Given the description of an element on the screen output the (x, y) to click on. 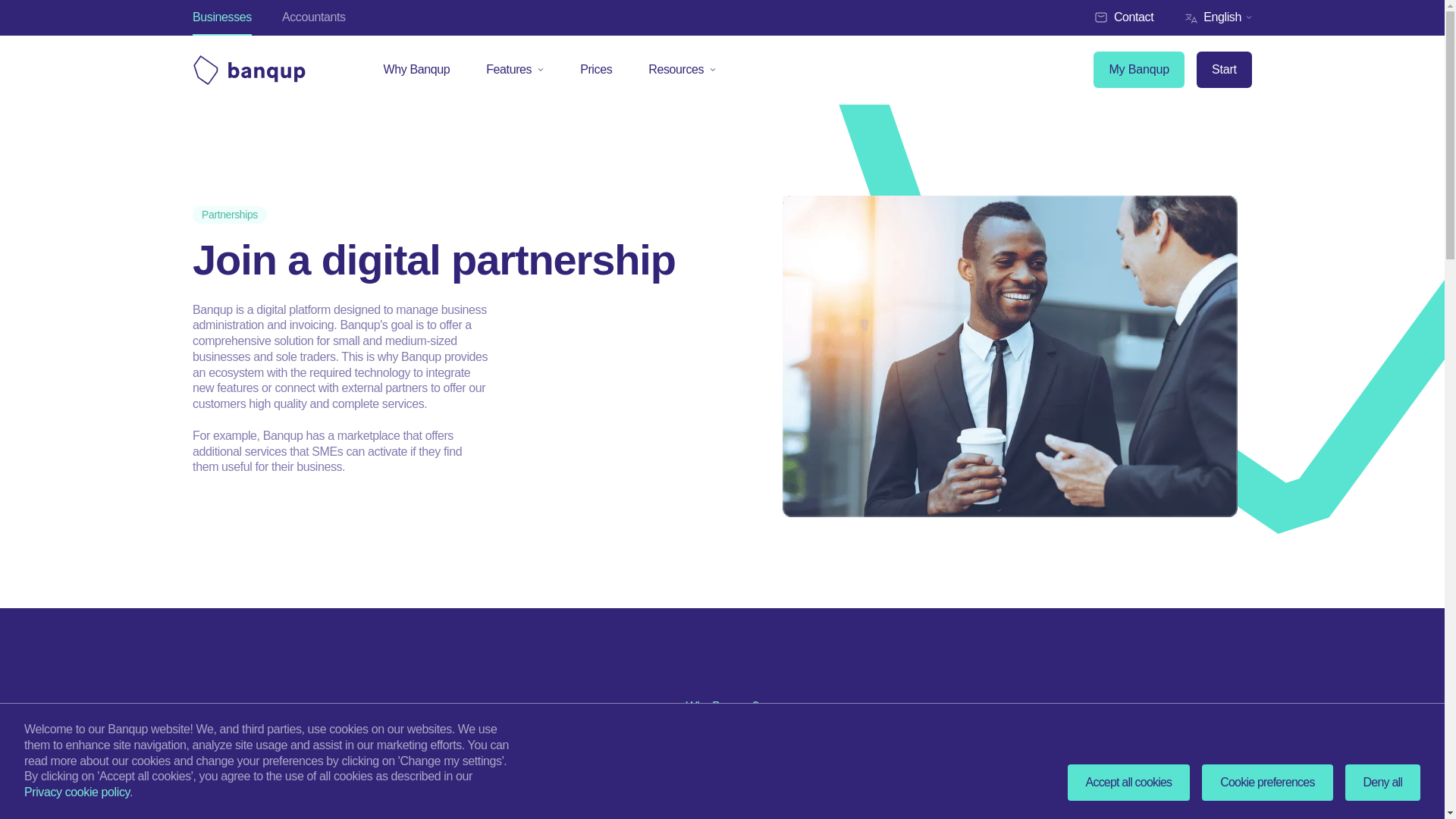
Accept all cookies (1129, 782)
My Banqup (1139, 69)
Privacy cookie policy (76, 791)
Prices (596, 70)
Why Banqup (416, 70)
Start (1224, 69)
Deny all (1383, 782)
Contact (1123, 17)
Businesses (221, 18)
Cookie preferences (1267, 782)
Accountants (314, 18)
Partnerships (229, 214)
